Given the description of an element on the screen output the (x, y) to click on. 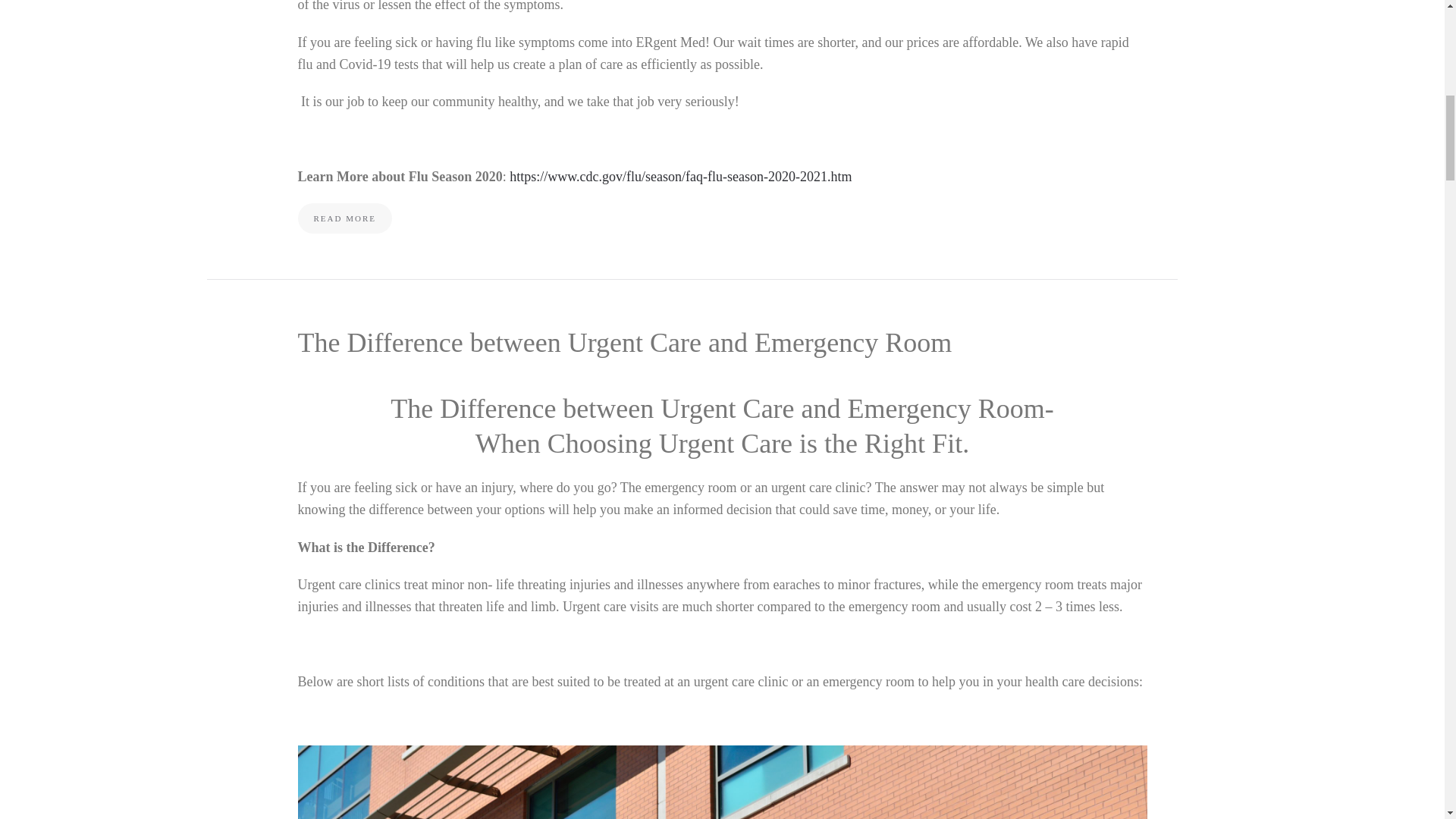
The Difference between Urgent Care and Emergency Room (624, 342)
READ MORE (344, 218)
